Given the description of an element on the screen output the (x, y) to click on. 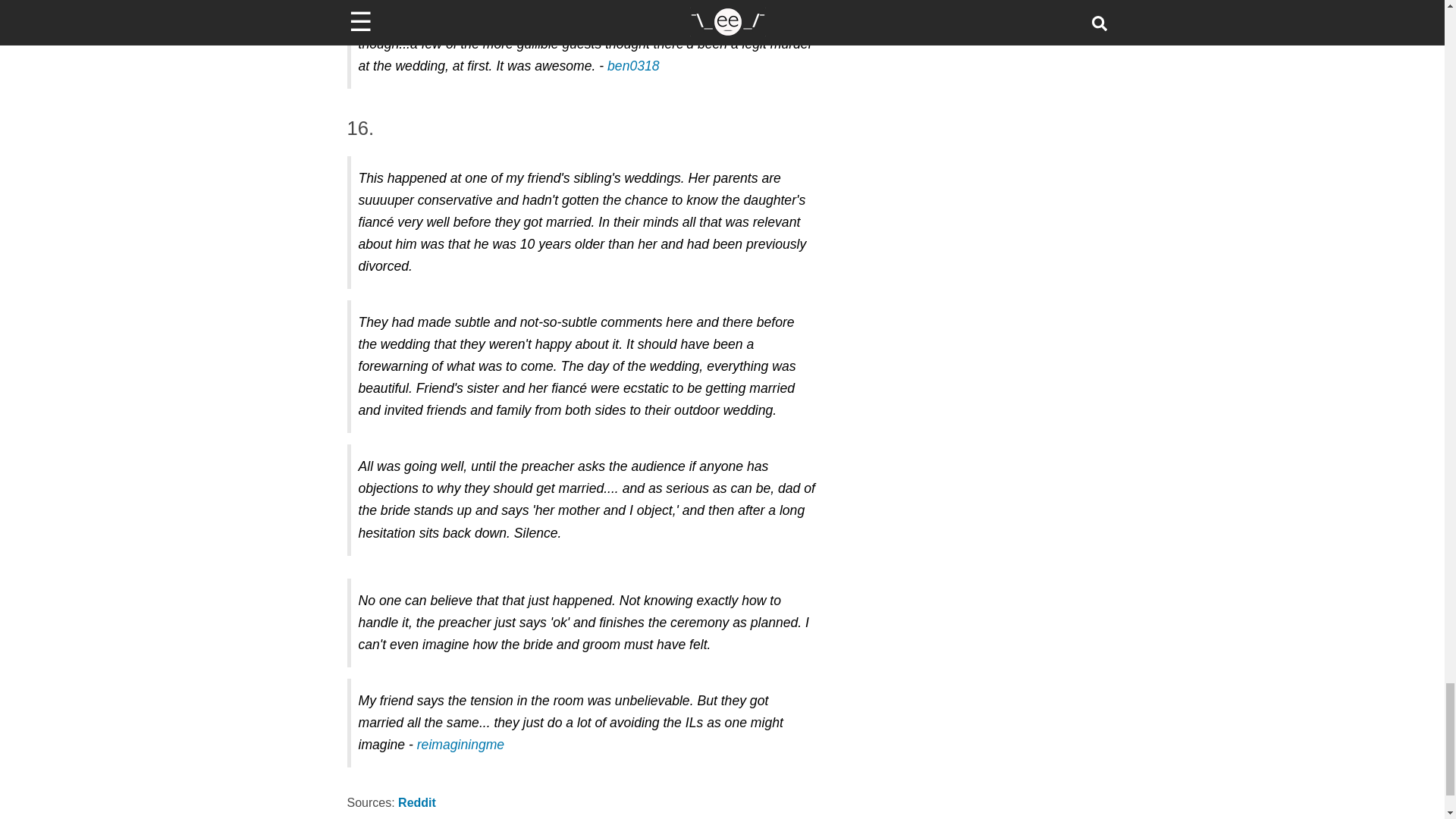
ben0318 (633, 65)
reimaginingme (459, 744)
Reddit (416, 802)
